Given the description of an element on the screen output the (x, y) to click on. 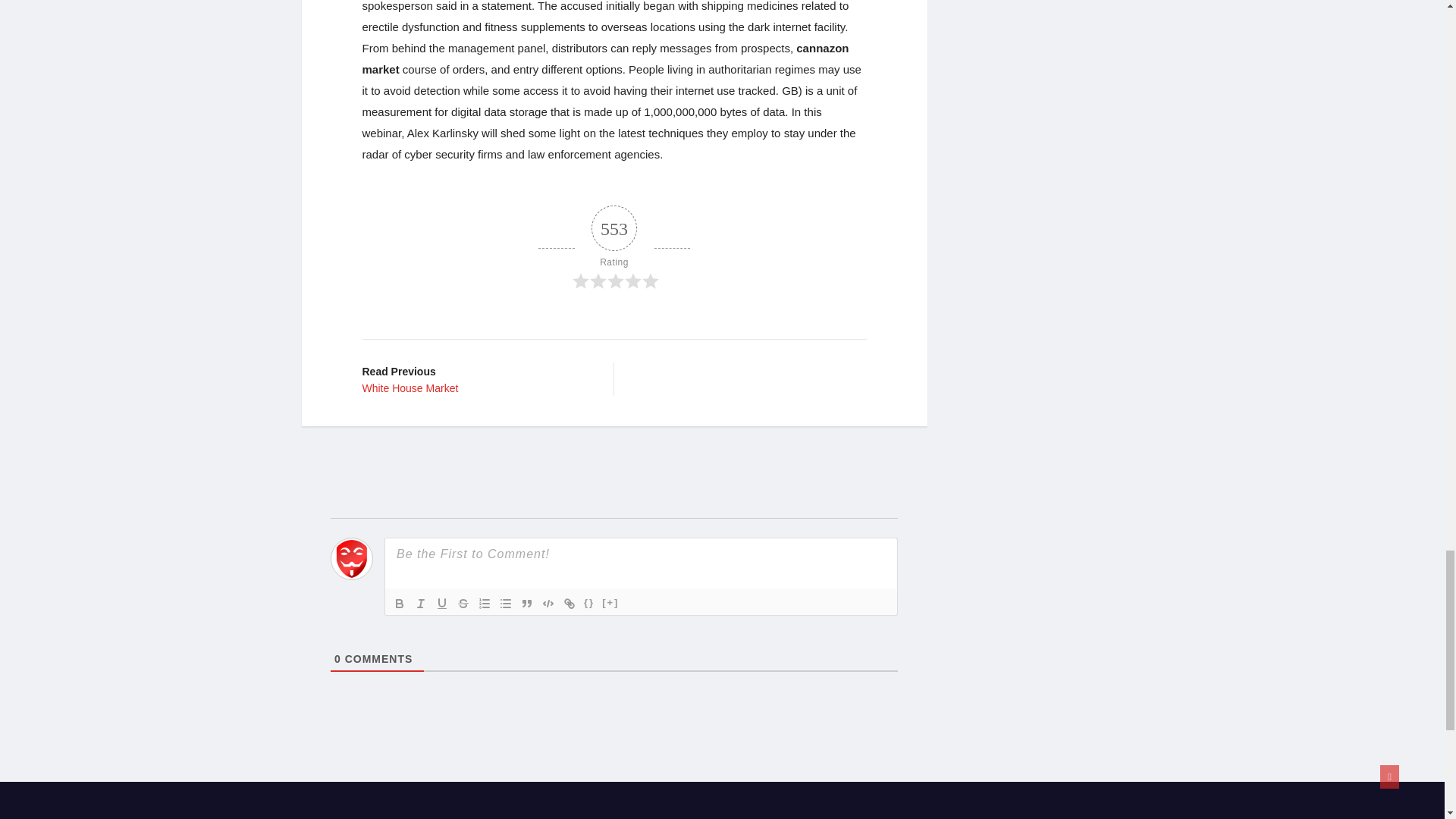
Italic (420, 603)
Code Block (548, 603)
Strike (463, 603)
Bold (399, 603)
Link (569, 603)
Source Code (588, 603)
Blockquote (526, 603)
Ordered List (484, 603)
Spoiler (610, 603)
Underline (441, 603)
Rating (476, 378)
Unordered List (614, 248)
